Given the description of an element on the screen output the (x, y) to click on. 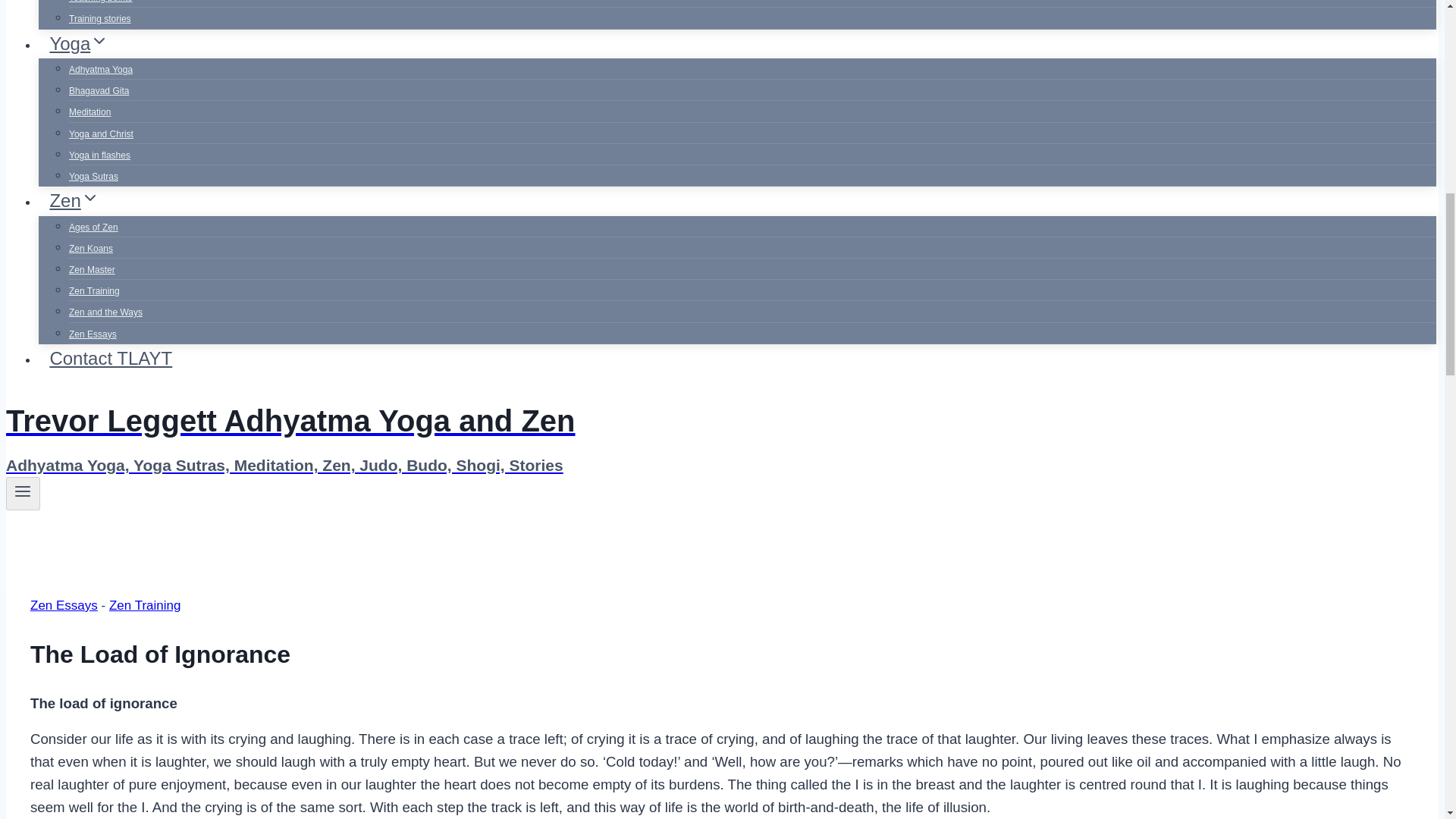
Expand (98, 40)
YogaExpand (79, 43)
Yoga and Christ (100, 133)
Training stories (99, 18)
Expand (90, 198)
Meditation (89, 111)
Toggle Menu (22, 491)
Ages of Zen (92, 226)
Yoga in flashes (99, 154)
Adhyatma Yoga (100, 69)
Zen Training (93, 290)
Bhagavad Gita (98, 90)
Yoga Sutras (92, 176)
Teaching points (100, 6)
Zen Master (91, 269)
